Given the description of an element on the screen output the (x, y) to click on. 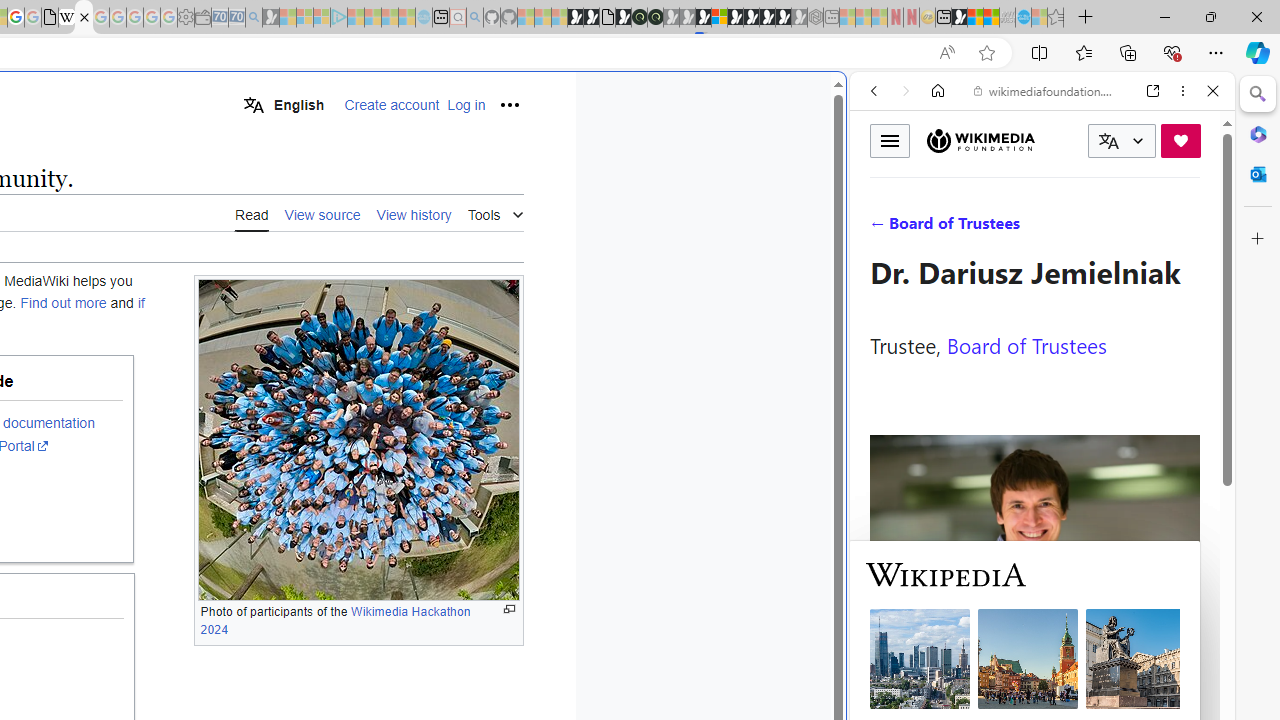
Microsoft Start Gaming - Sleeping (270, 17)
Create account (392, 105)
Earth has six continents not seven, radical new study claims (991, 17)
Navy Quest (1007, 17)
Tabs you've opened (276, 265)
Log in (466, 105)
World - MSN (975, 17)
Wiktionary (1034, 669)
View source (322, 214)
Wikimedia Foundation (980, 141)
